Given the description of an element on the screen output the (x, y) to click on. 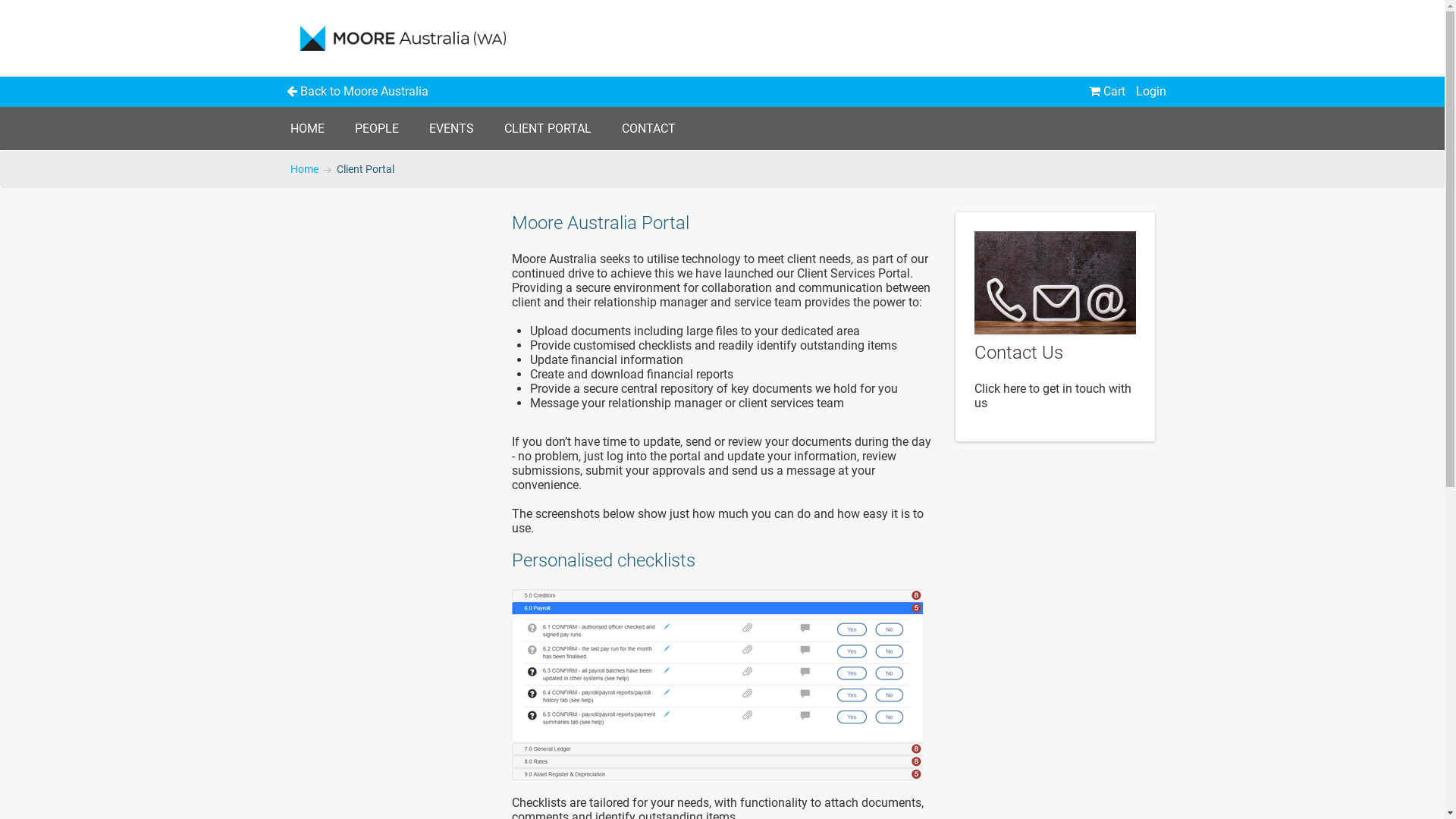
CONTACT Element type: text (648, 128)
Back to Moore Australia Element type: text (357, 91)
Home Element type: text (303, 169)
CLIENT PORTAL Element type: text (546, 128)
Click here to get in touch with us Element type: text (1052, 395)
HOME Element type: text (306, 128)
Login Element type: text (1150, 91)
Contact Us Element type: text (1018, 352)
PEOPLE Element type: text (376, 128)
Moore home Element type: hover (406, 38)
  Element type: text (1054, 282)
EVENTS Element type: text (451, 128)
Cart Element type: text (1106, 91)
